Given the description of an element on the screen output the (x, y) to click on. 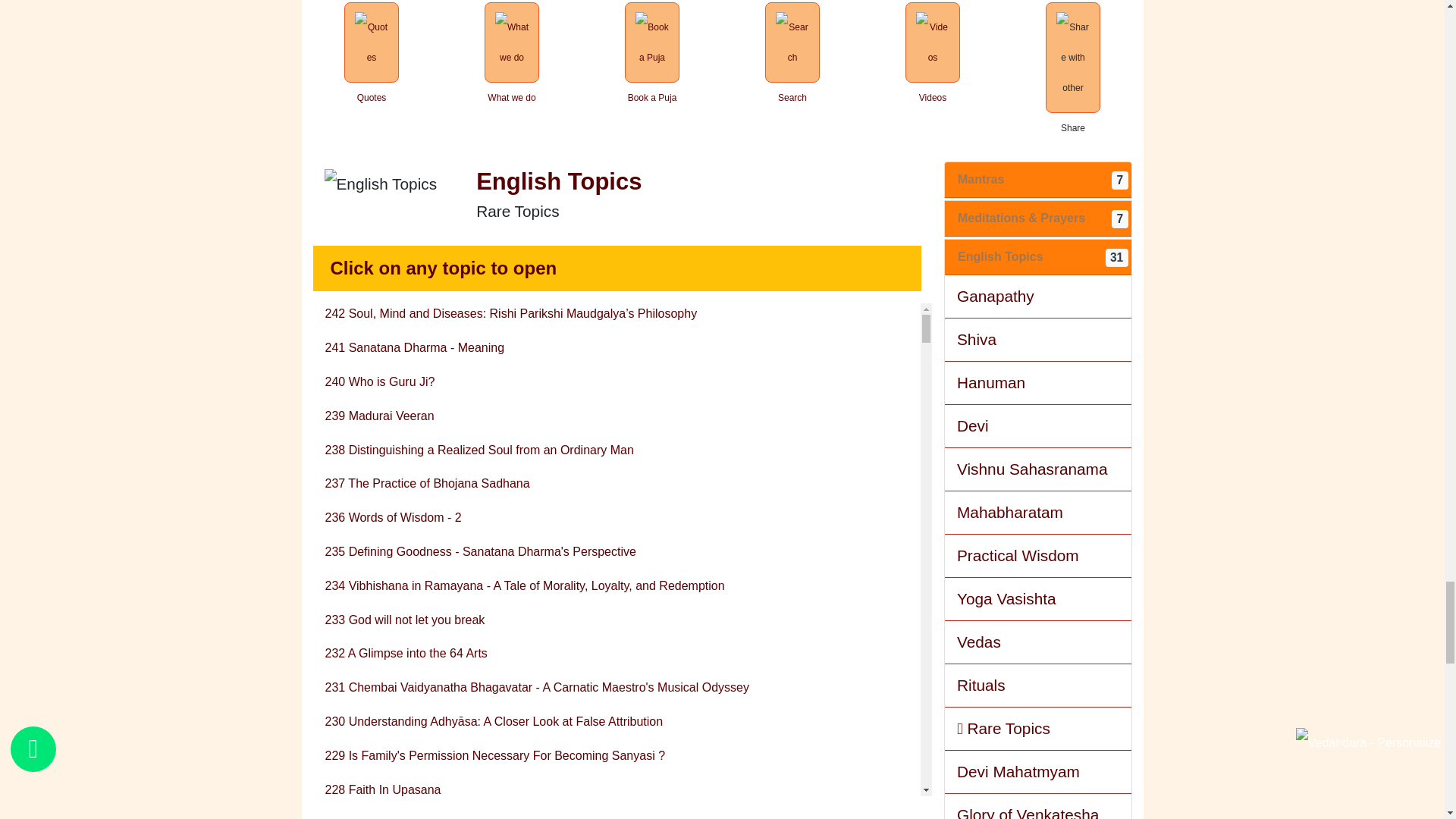
Book a Puja (651, 53)
